Given the description of an element on the screen output the (x, y) to click on. 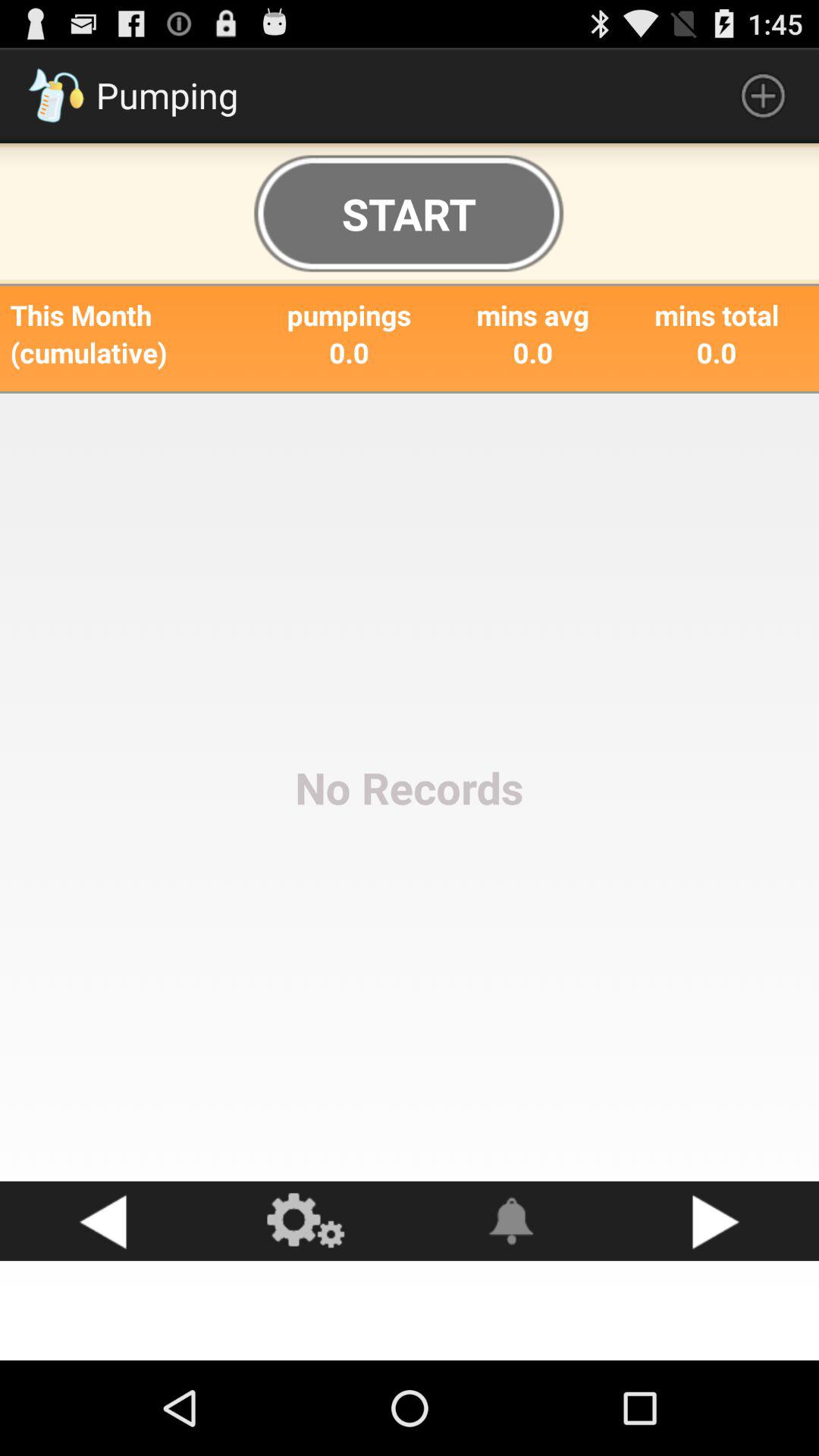
settings button (306, 1220)
